Given the description of an element on the screen output the (x, y) to click on. 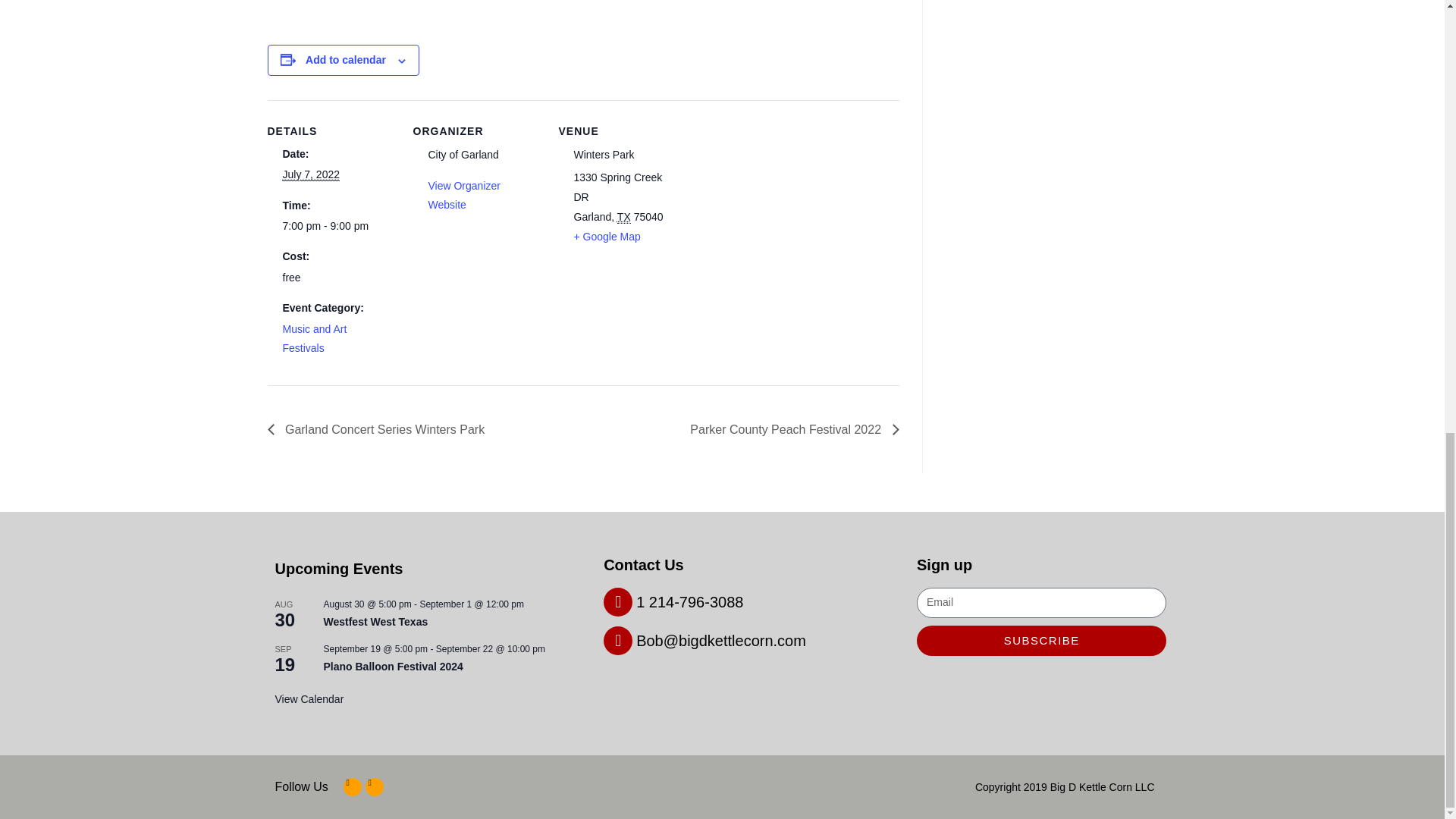
Texas (623, 216)
1 214-796-3088 (673, 601)
Westfest West Texas (375, 621)
View Calendar (309, 698)
SUBSCRIBE (1041, 639)
Add to calendar (345, 60)
View more events. (309, 698)
Parker County Peach Festival 2022 (789, 429)
2022-07-07 (330, 226)
Plano Balloon Festival 2024 (393, 666)
2022-07-07 (310, 174)
View Organizer Website (463, 194)
Plano Balloon Festival 2024 (393, 666)
Westfest West Texas (375, 621)
Garland Concert Series Winters Park (379, 429)
